Given the description of an element on the screen output the (x, y) to click on. 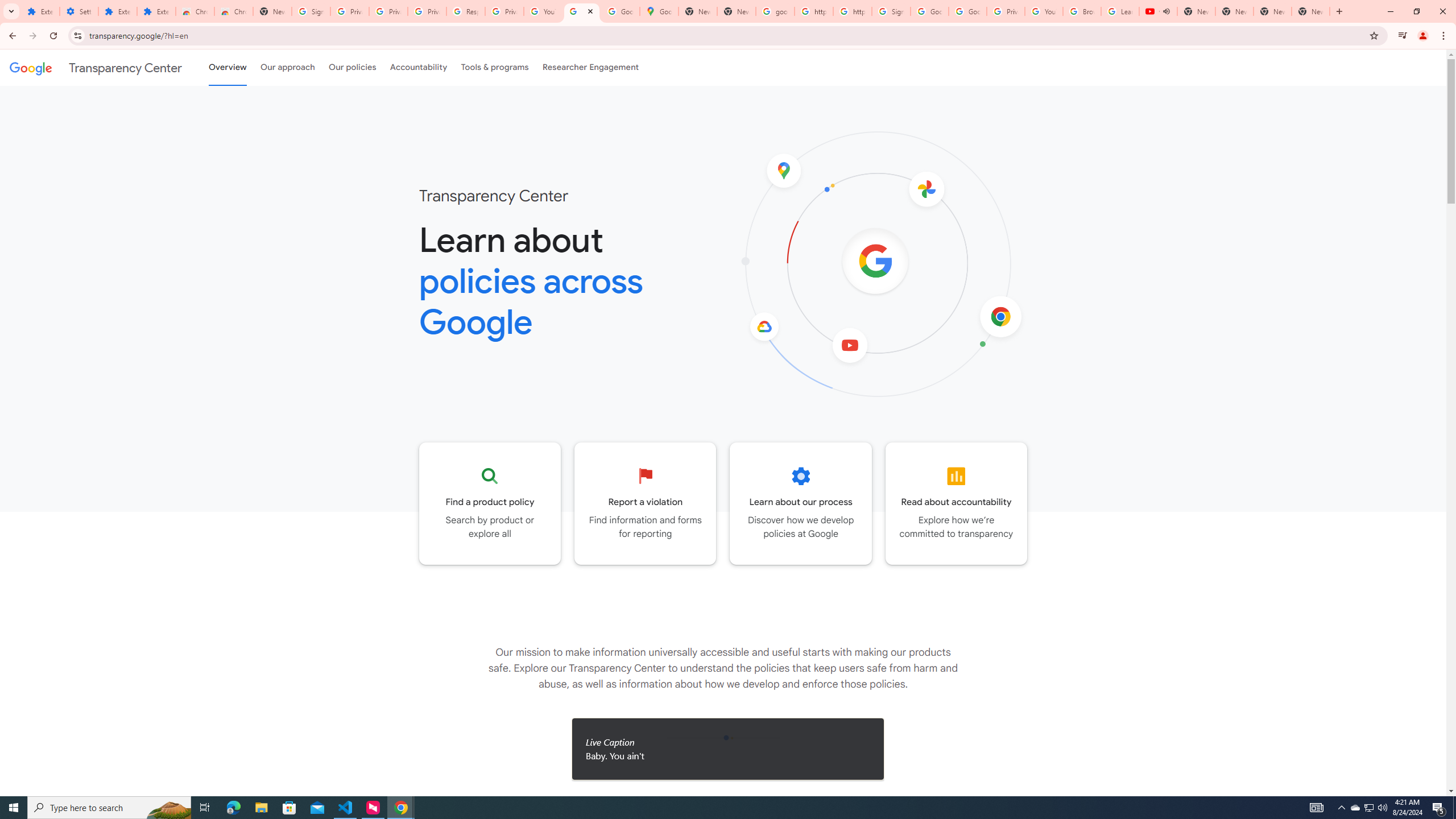
Tools & programs (494, 67)
https://scholar.google.com/ (813, 11)
Sign in - Google Accounts (890, 11)
